Given the description of an element on the screen output the (x, y) to click on. 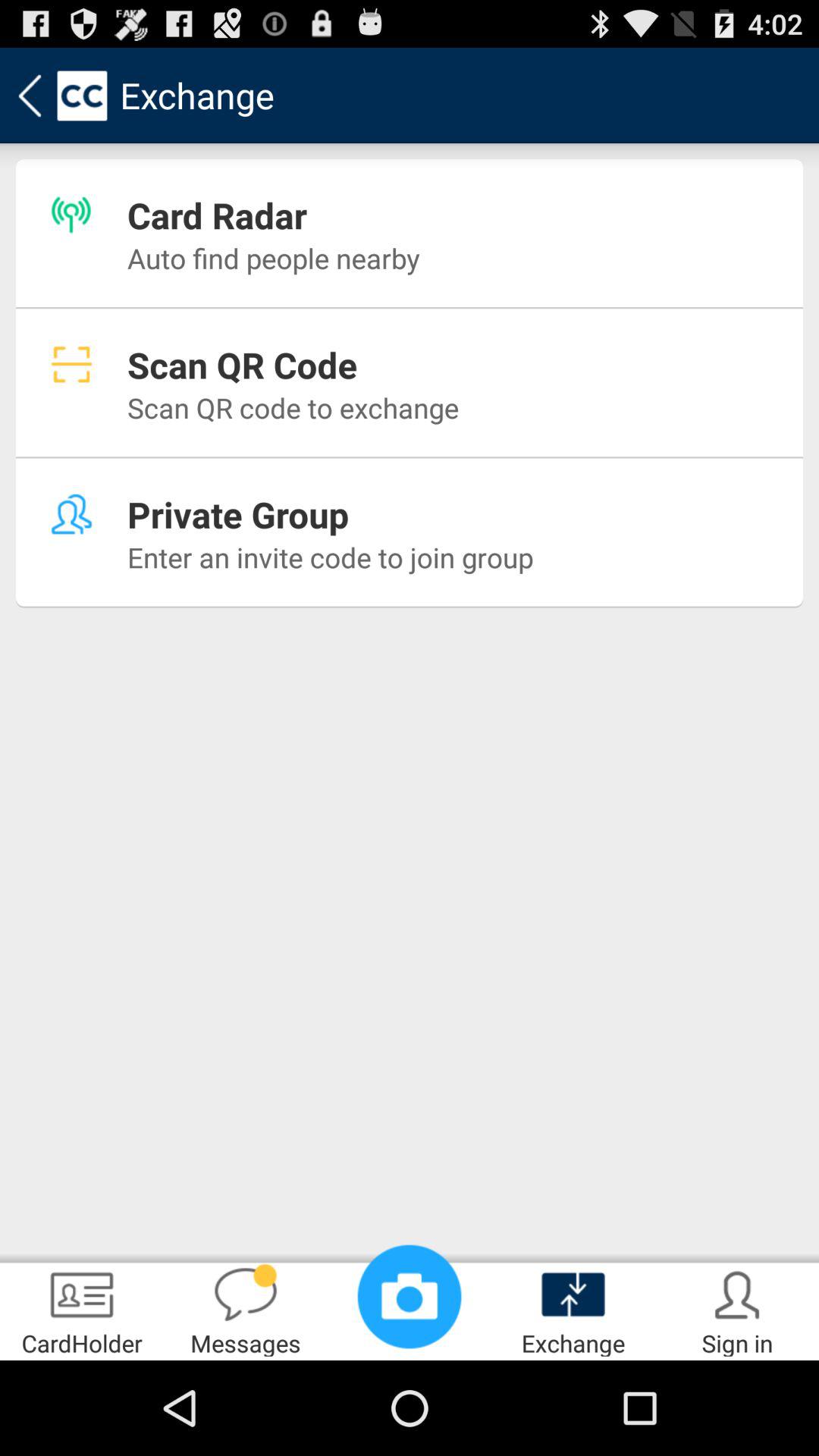
press the cardholder item (81, 1309)
